Given the description of an element on the screen output the (x, y) to click on. 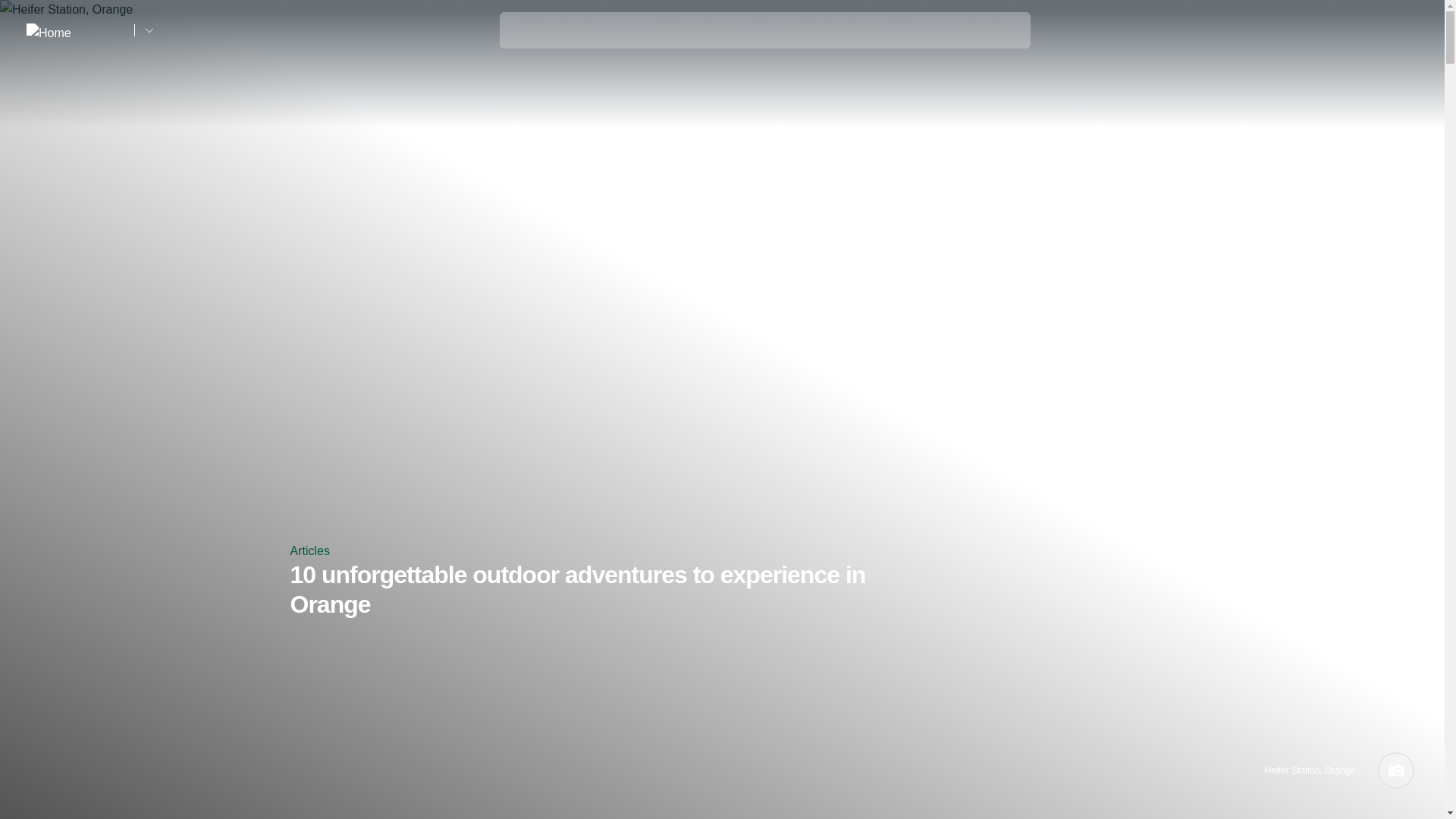
Open (1407, 29)
Toggle navigation (1407, 31)
Go to (148, 30)
Home (74, 29)
Submit the search query. (520, 27)
